Given the description of an element on the screen output the (x, y) to click on. 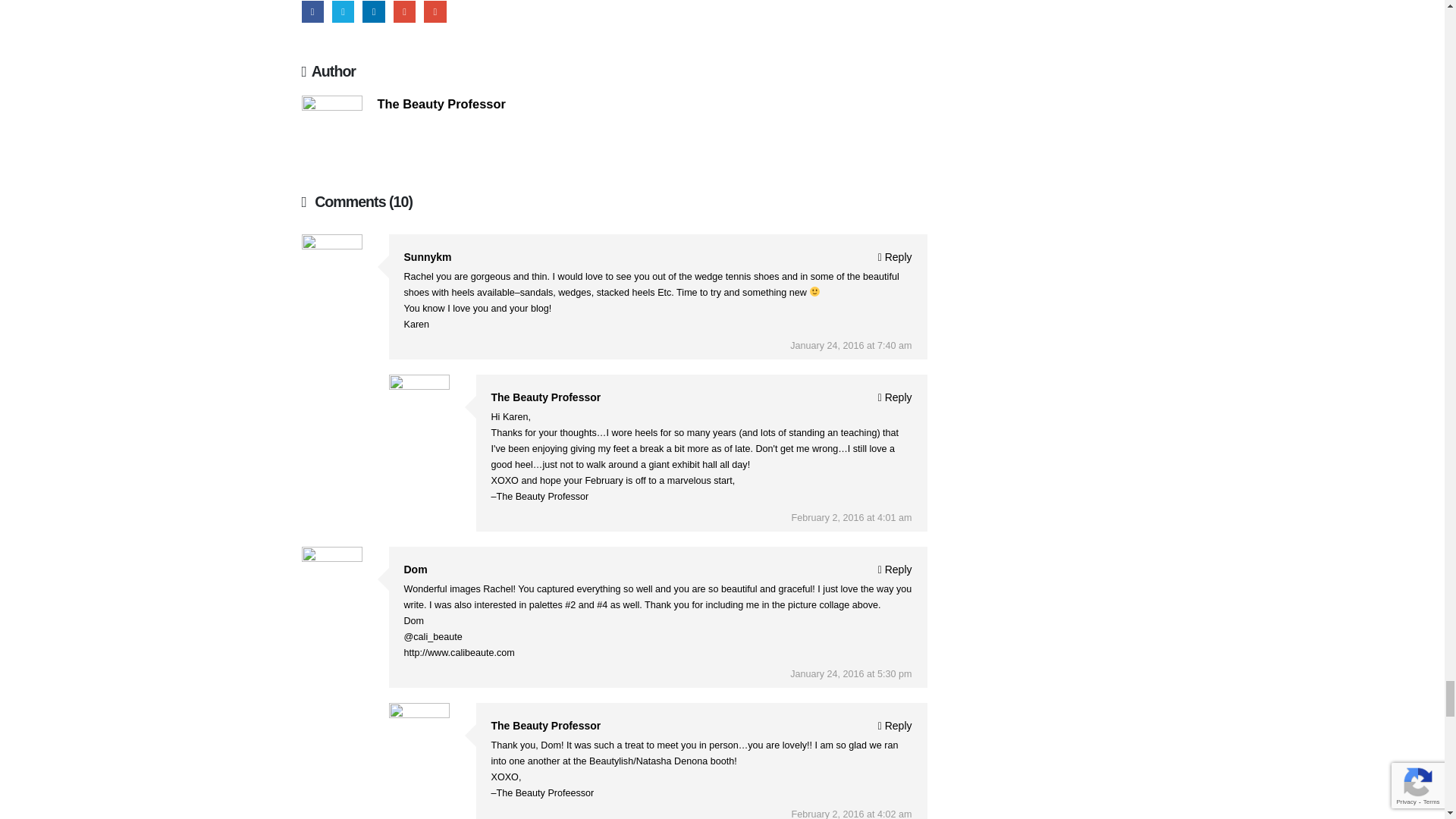
Posts by The Beauty Professor (441, 103)
